Given the description of an element on the screen output the (x, y) to click on. 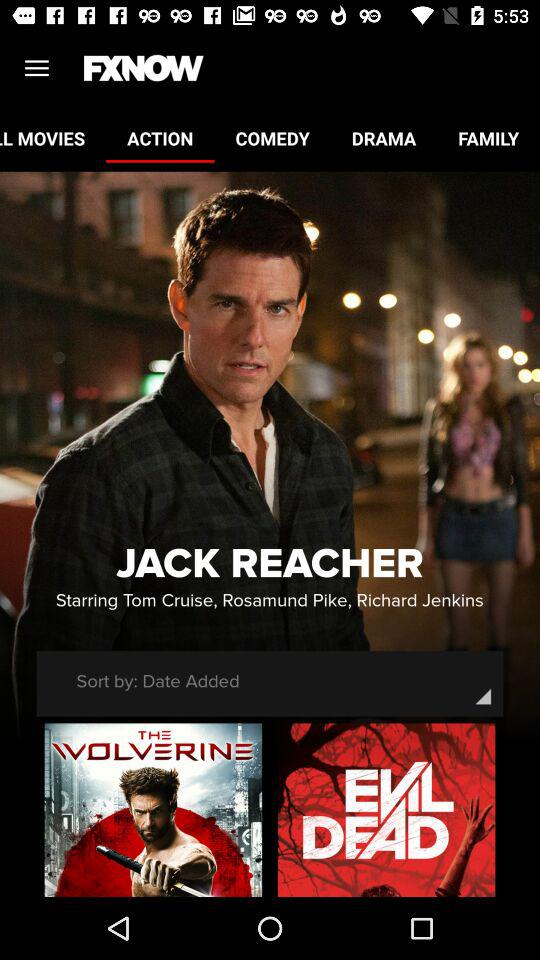
tap icon above the starring tom cruise (269, 563)
